Given the description of an element on the screen output the (x, y) to click on. 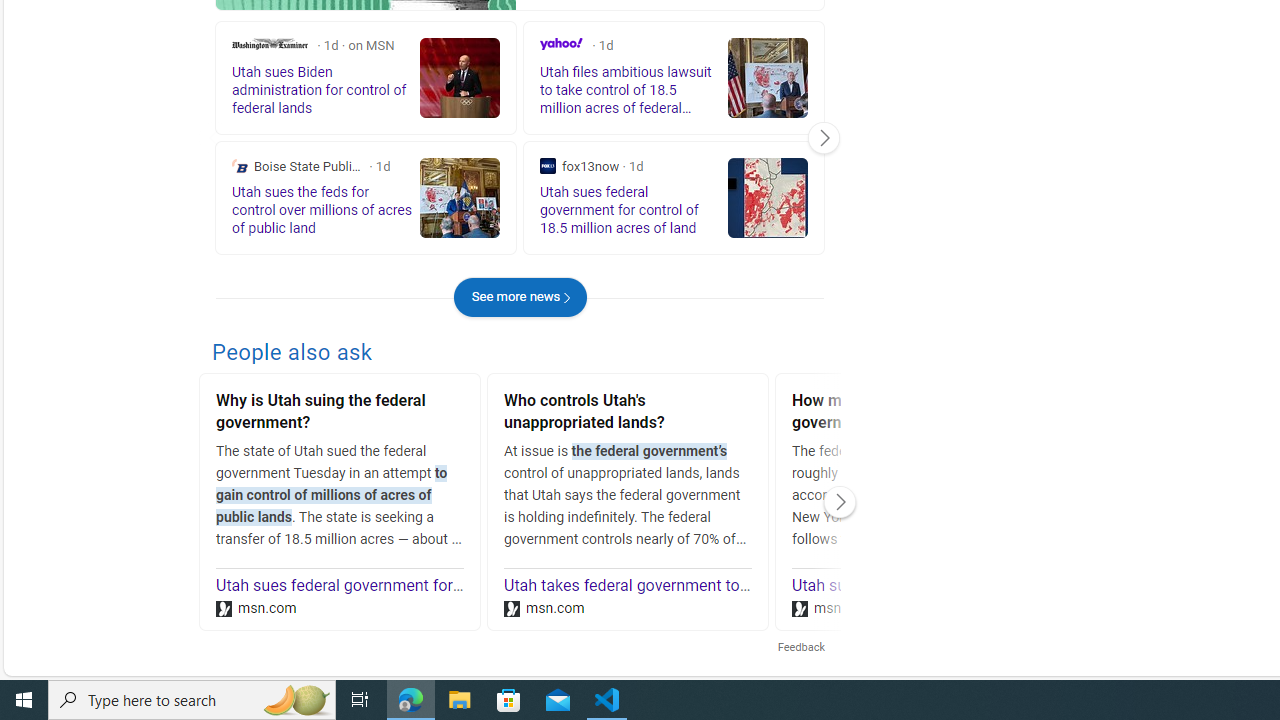
See more news (520, 296)
Utah sues federal government for control of public lands (415, 586)
fox13now (547, 165)
Why is Utah suing the federal government? (339, 414)
How much land does the federal government own in Utah? (915, 414)
